Given the description of an element on the screen output the (x, y) to click on. 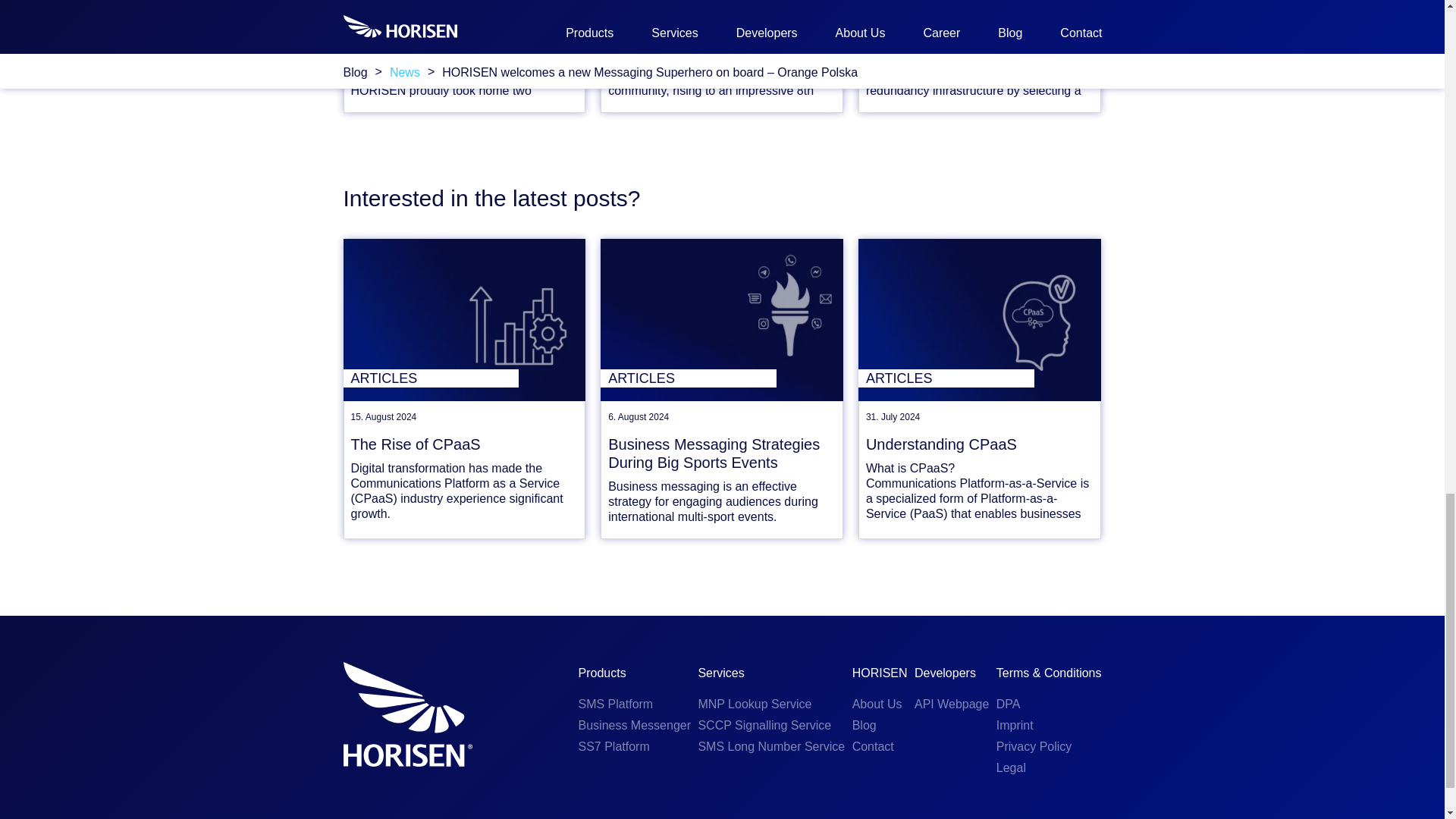
HORISEN-The-home-of-messaging-technology (406, 714)
HORISEN CEO Named in Top 25 of ROCCO 100 Awards (721, 27)
